Given the description of an element on the screen output the (x, y) to click on. 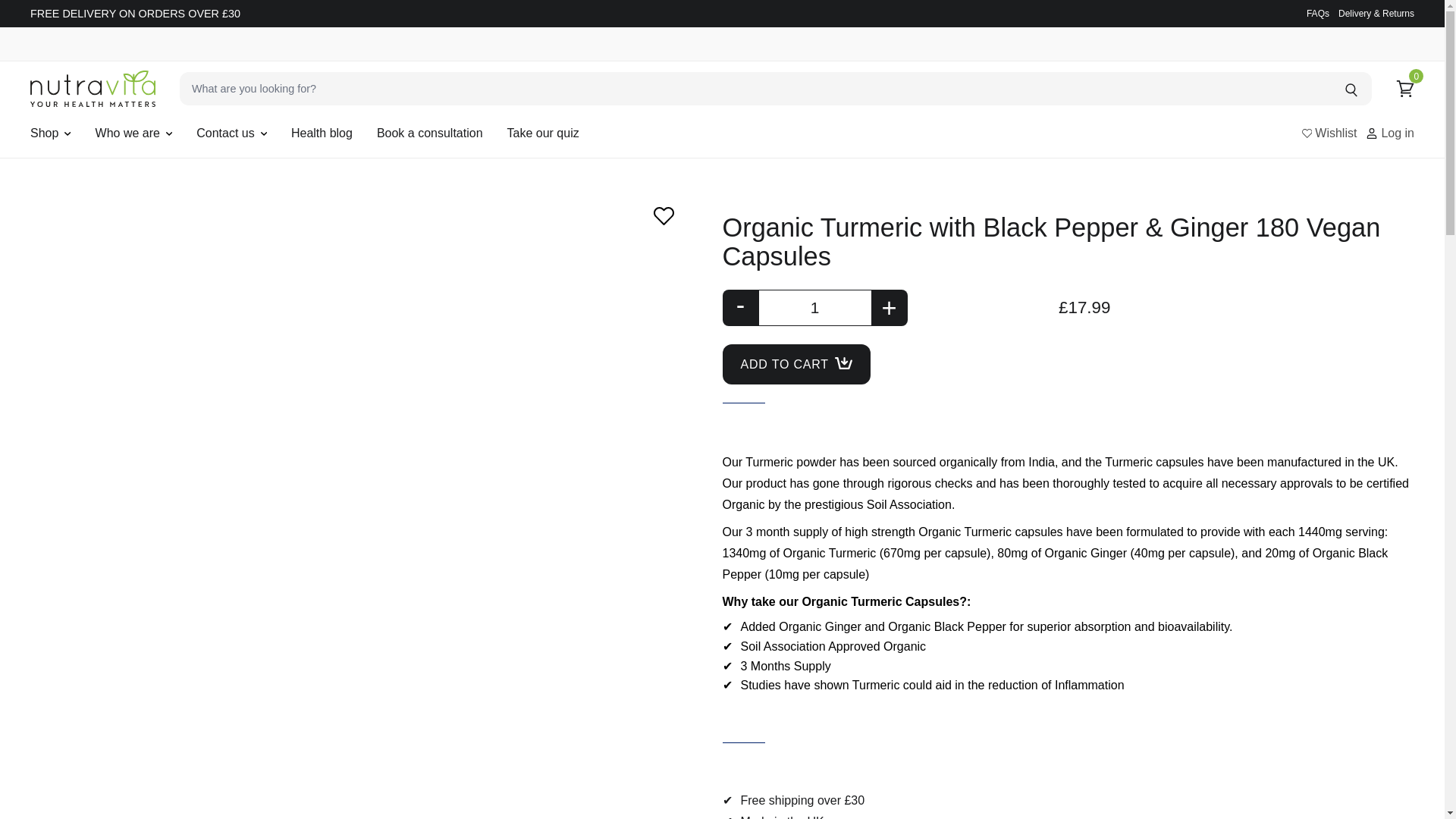
Customer reviews powered by Trustpilot (1067, 203)
Who we are (128, 133)
Contact us (224, 133)
FAQs (1317, 13)
Shop (44, 133)
FAQs (1317, 13)
1 (814, 307)
0 (1404, 88)
